Given the description of an element on the screen output the (x, y) to click on. 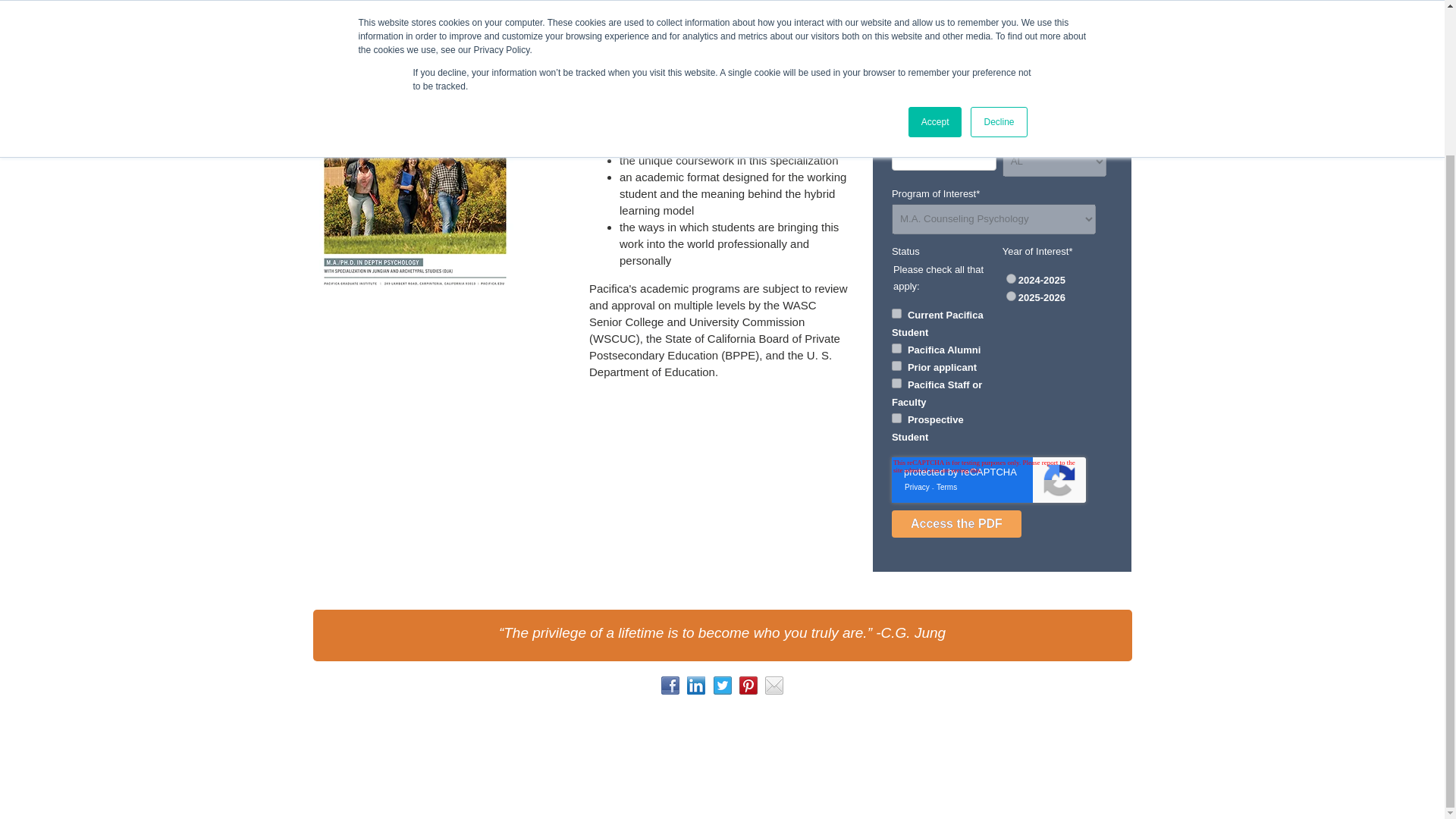
Prior applicant (896, 366)
2024-2025 (1011, 278)
Access the PDF (956, 523)
reCAPTCHA (988, 479)
Access the PDF (956, 523)
Current Pacifica Student (896, 313)
2025-2026 (1011, 296)
Prospective Student (896, 418)
Pacifica Staff or Faculty (896, 383)
Pacifica Alumni (896, 347)
